Given the description of an element on the screen output the (x, y) to click on. 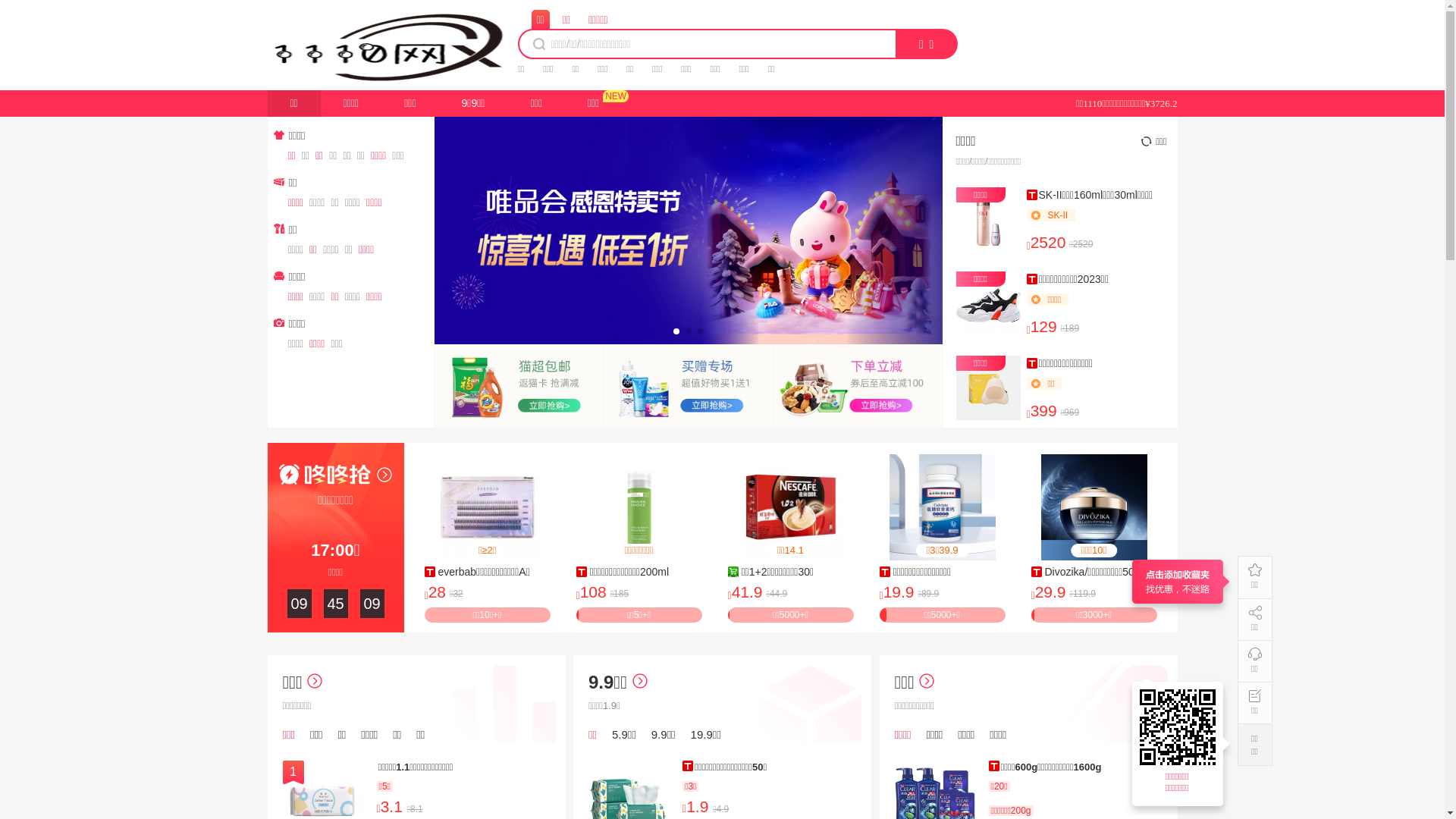
https://tejia.1110wang.com Element type: hover (1179, 727)
